Given the description of an element on the screen output the (x, y) to click on. 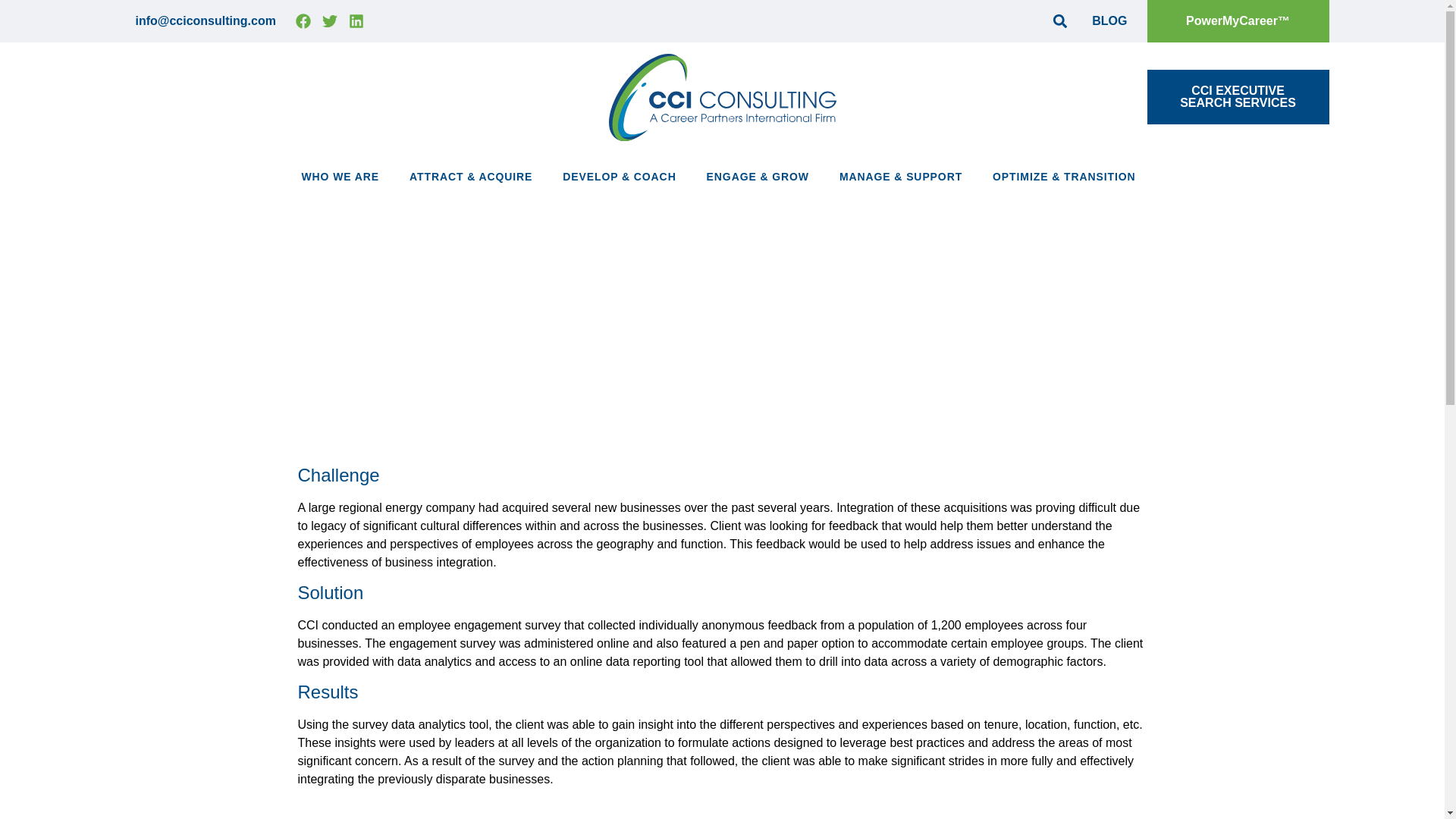
WHO WE ARE (343, 176)
BLOG (1237, 96)
